Given the description of an element on the screen output the (x, y) to click on. 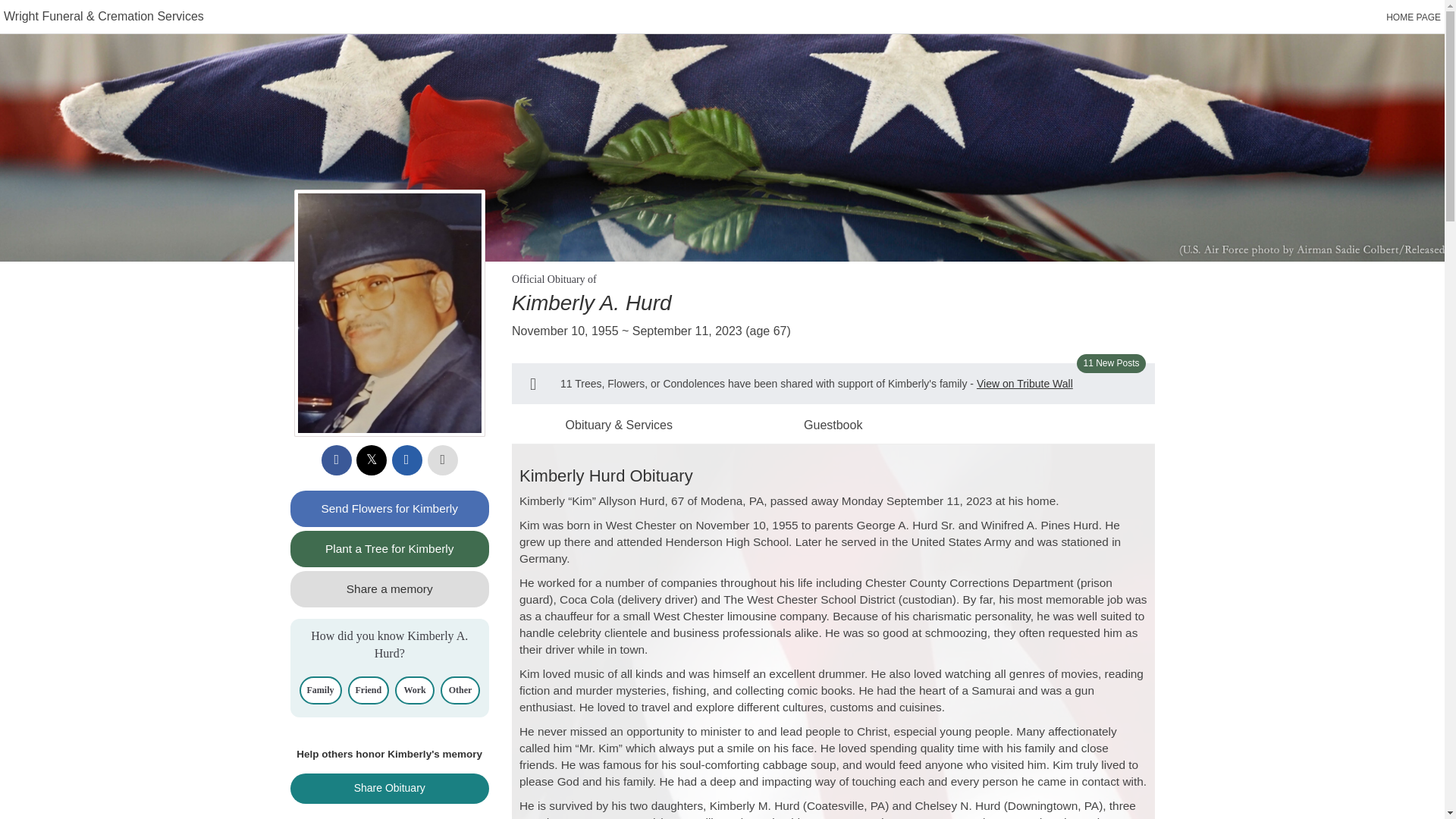
Share to Facebook (336, 460)
View on Tribute Wall (1024, 383)
Share Obituary (389, 788)
Printable copy (443, 460)
Share on X (371, 460)
Share via email (406, 460)
Share a memory (389, 588)
Plant a Tree for Kimberly (389, 548)
HOME PAGE (1413, 17)
Send Flowers for Kimberly (389, 508)
